Given the description of an element on the screen output the (x, y) to click on. 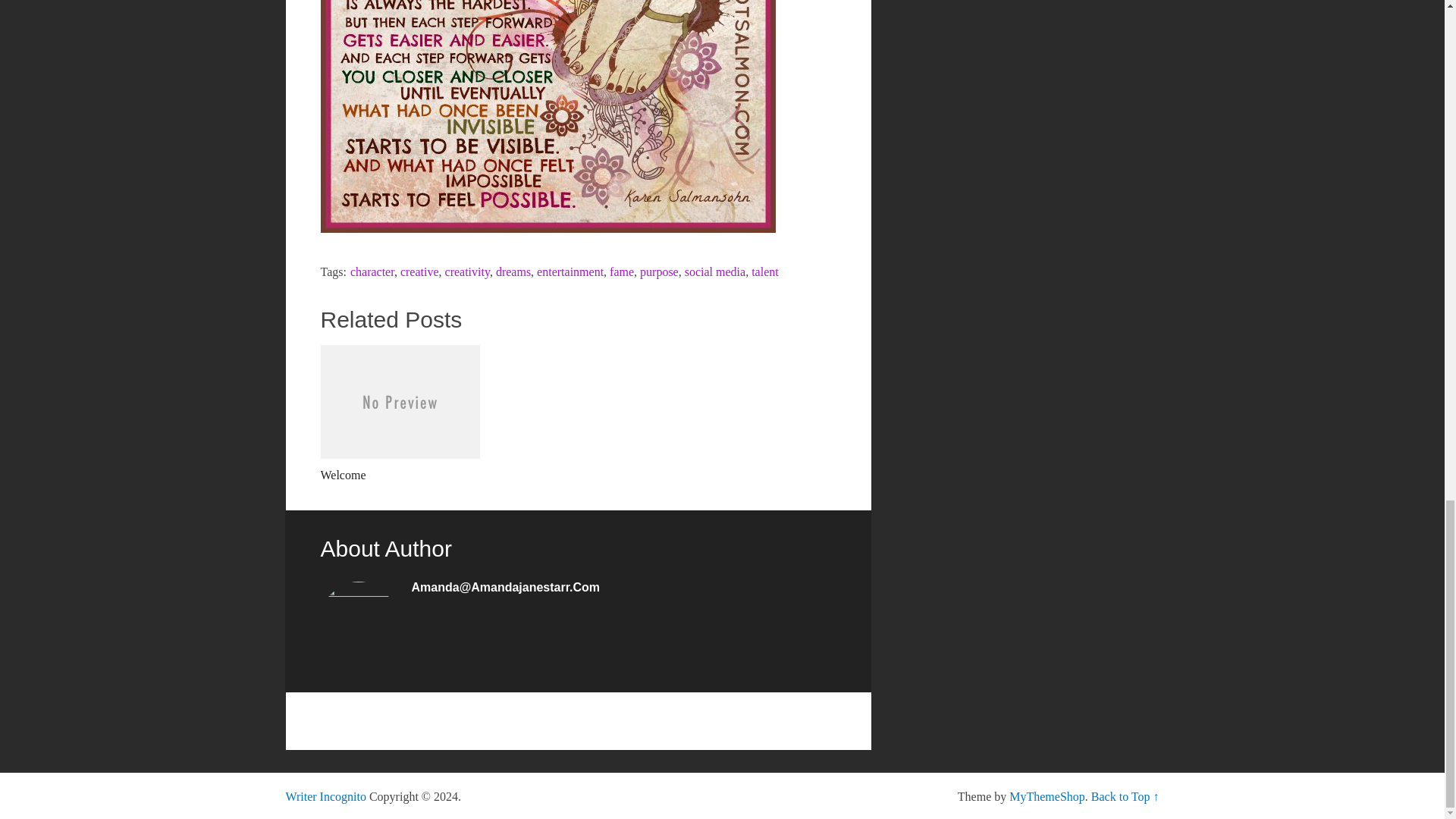
creative (419, 271)
dreams (513, 271)
Welcome (399, 414)
character (372, 271)
purpose (659, 271)
entertainment (570, 271)
Welcome (399, 414)
talent (764, 271)
creativity (467, 271)
